Given the description of an element on the screen output the (x, y) to click on. 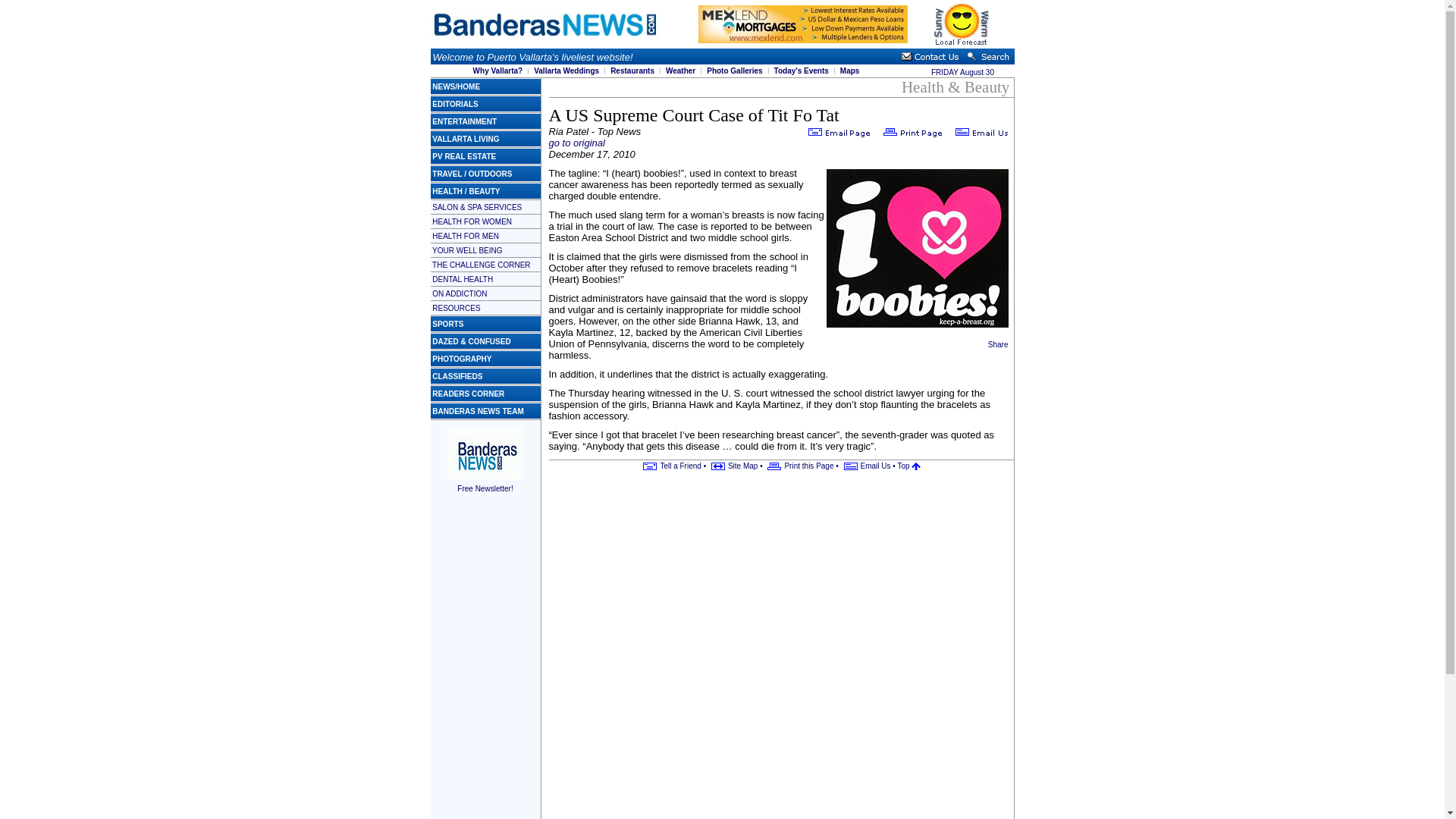
HEALTH FOR WOMEN (472, 221)
RESOURCES (456, 307)
Why Vallarta? (497, 70)
Vallarta Weddings (566, 70)
READERS CORNER (467, 393)
ON ADDICTION (459, 293)
Today's Events (801, 70)
EDITORIALS (454, 103)
Weather (680, 70)
PV REAL ESTATE (464, 155)
